Given the description of an element on the screen output the (x, y) to click on. 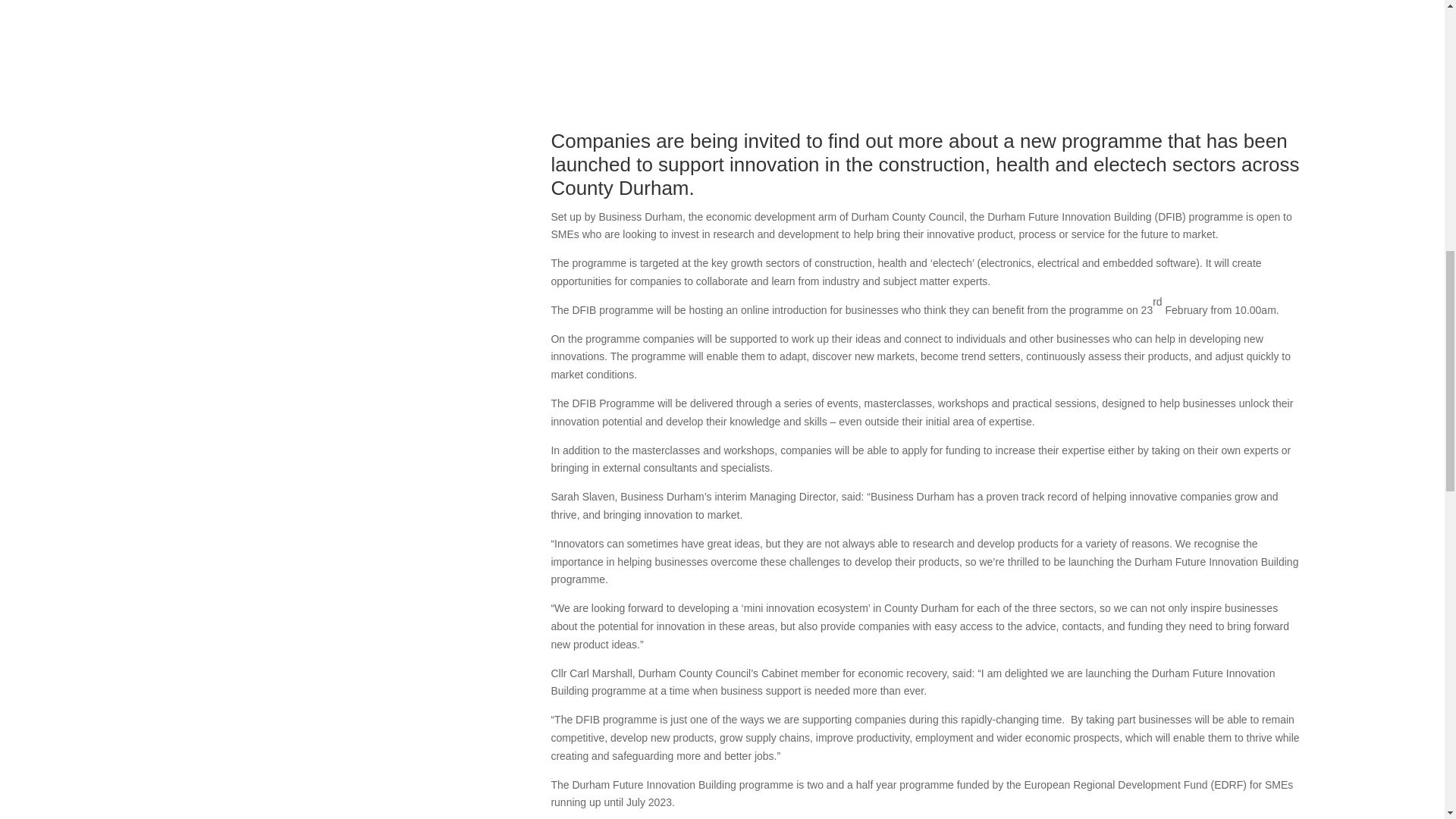
Cllr Marshall and Sarah Slaven 2 (925, 55)
